Given the description of an element on the screen output the (x, y) to click on. 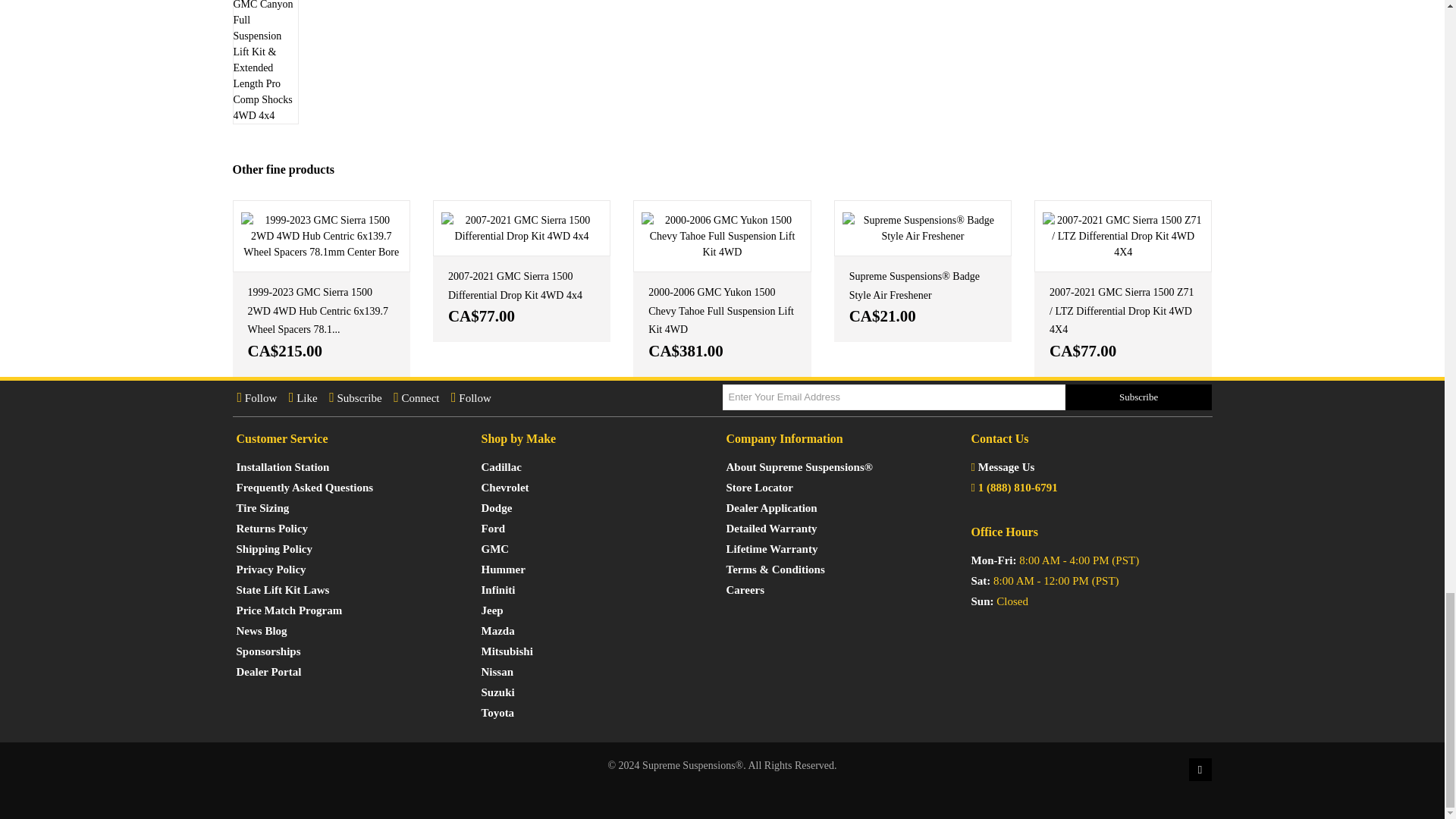
2007-2021 GMC Sierra 1500 Differential Drop Kit 4WD 4x4 (515, 286)
2007-2021 GMC Sierra 1500 Differential Drop Kit 4WD 4x4 (521, 227)
Subscribe (1138, 396)
